Given the description of an element on the screen output the (x, y) to click on. 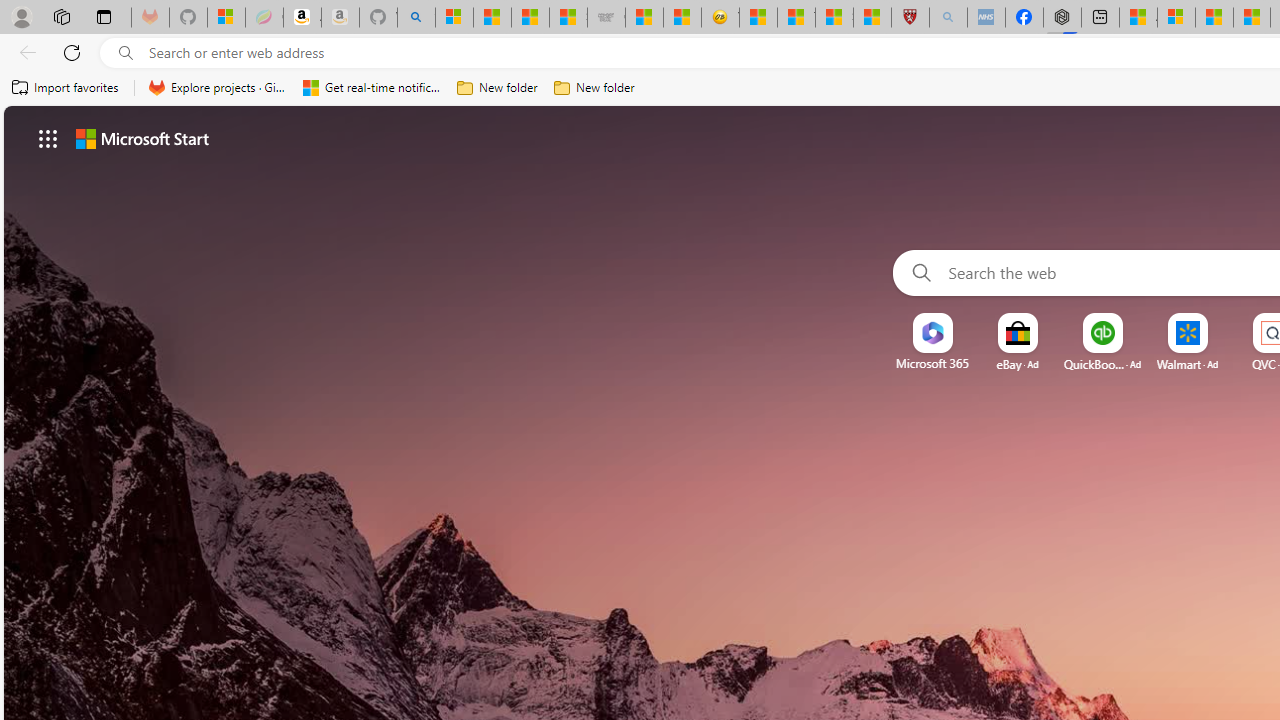
Search icon (125, 53)
